Given the description of an element on the screen output the (x, y) to click on. 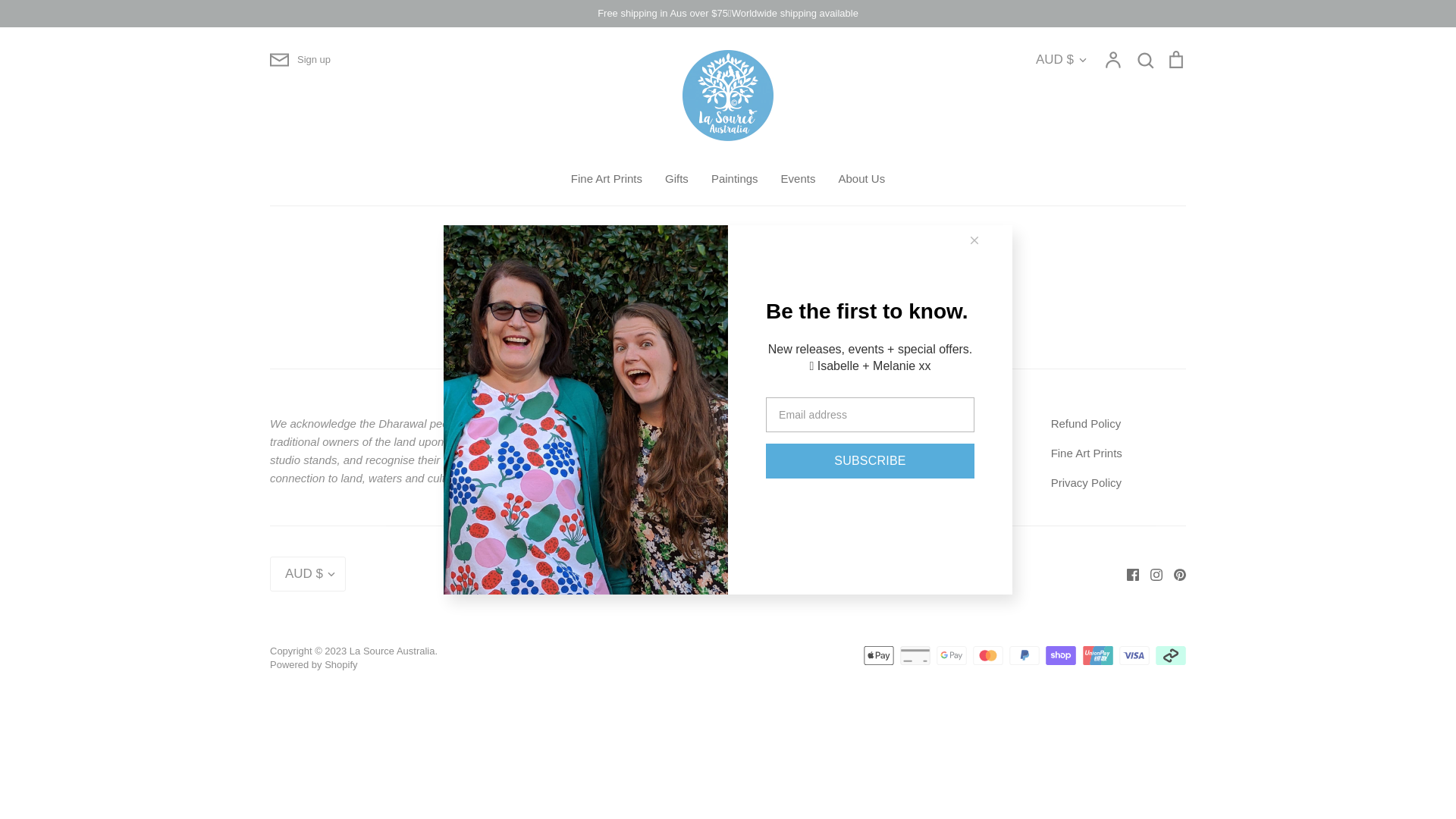
Continue shopping Element type: text (535, 302)
AUD $ Element type: text (307, 573)
Powered by Shopify Element type: text (313, 664)
Paintings Element type: text (734, 178)
Paintings Element type: text (622, 482)
Gifts Element type: text (761, 482)
AUD $ Element type: text (1061, 59)
Contact Us Element type: text (627, 453)
Terms/Conditions Element type: text (944, 482)
Search Element type: text (617, 423)
Framing Guide Element type: text (787, 423)
Gift Certificates Element type: text (939, 453)
Account Element type: text (1113, 59)
Privacy Policy Element type: text (1086, 482)
Fine Art Prints Element type: text (1086, 453)
La Source Australia Element type: text (392, 650)
Search Element type: text (1144, 59)
SUBSCRIBE Element type: text (869, 460)
Events Element type: text (798, 178)
About Us Element type: text (860, 178)
Cart Element type: text (1176, 59)
Refund Policy Element type: text (1086, 423)
Fine Art Prints Element type: text (606, 178)
Sign up Element type: text (299, 59)
Gifts Element type: text (676, 178)
Our Story Element type: text (773, 453)
Shipping Policy Element type: text (939, 423)
